Given the description of an element on the screen output the (x, y) to click on. 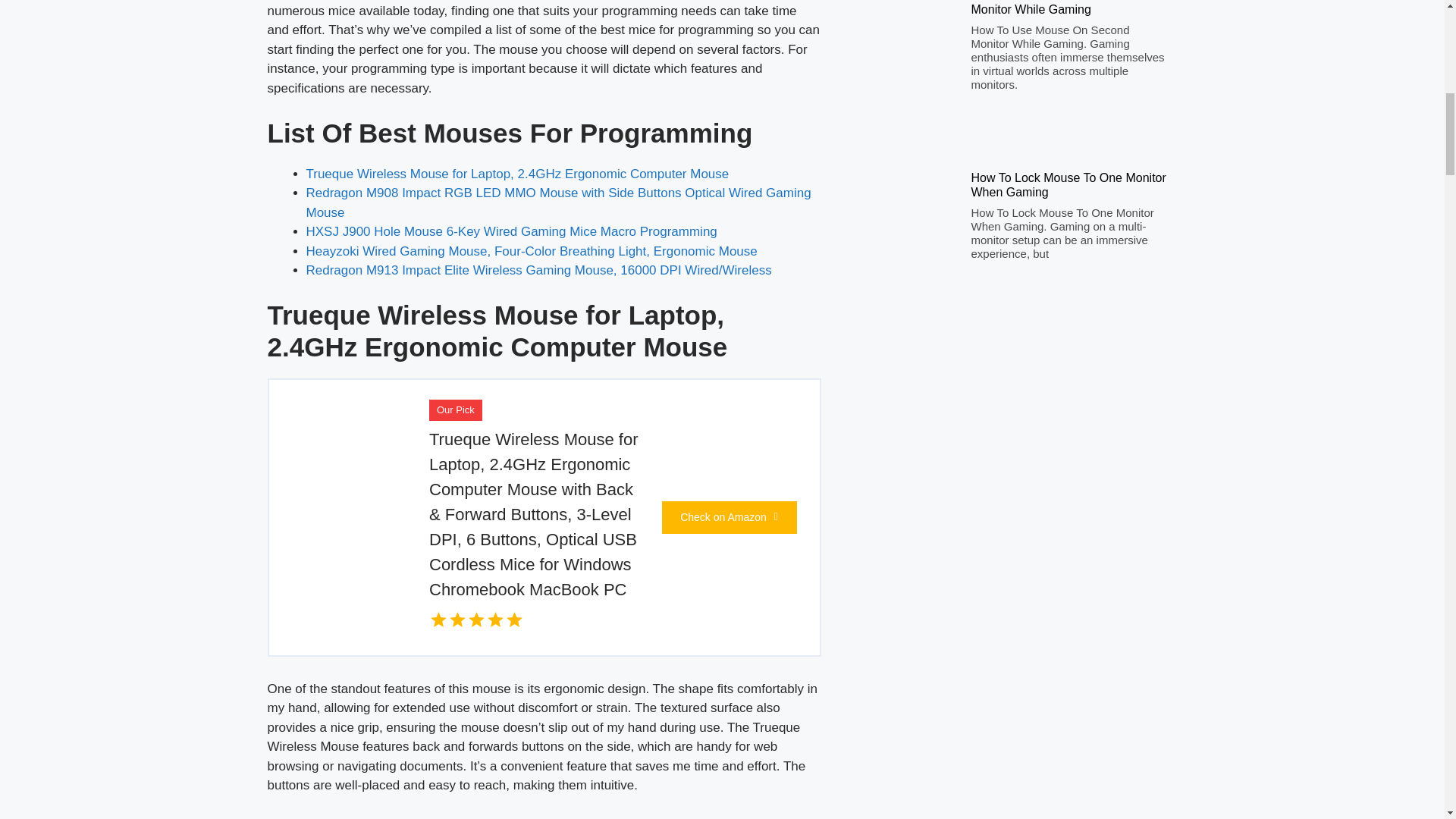
How To Lock Mouse To One Monitor When Gaming (1068, 185)
Check on Amazon (728, 517)
How To Use Mouse On Second Monitor While Gaming (1055, 7)
